Given the description of an element on the screen output the (x, y) to click on. 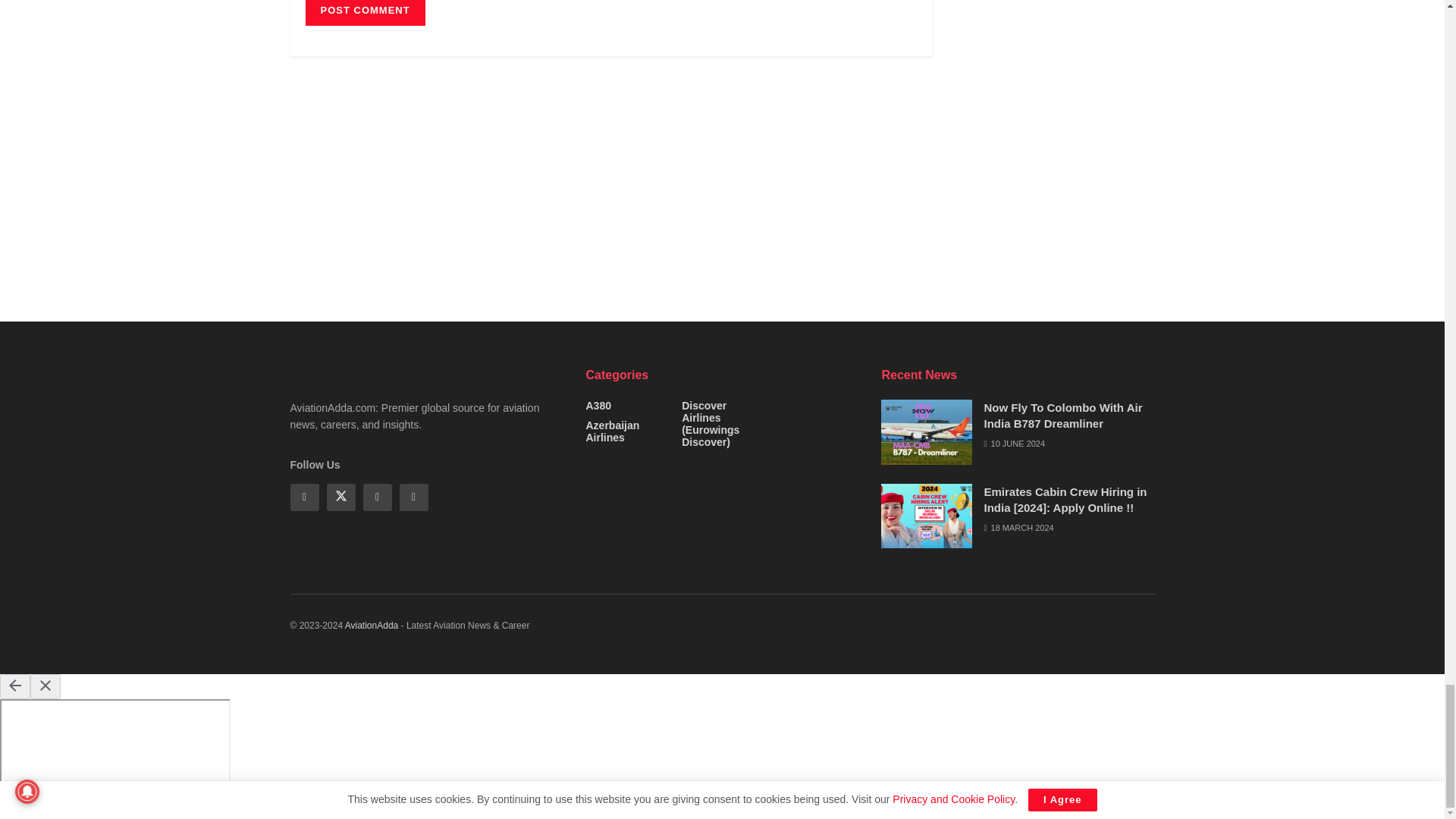
Post Comment (364, 12)
